Given the description of an element on the screen output the (x, y) to click on. 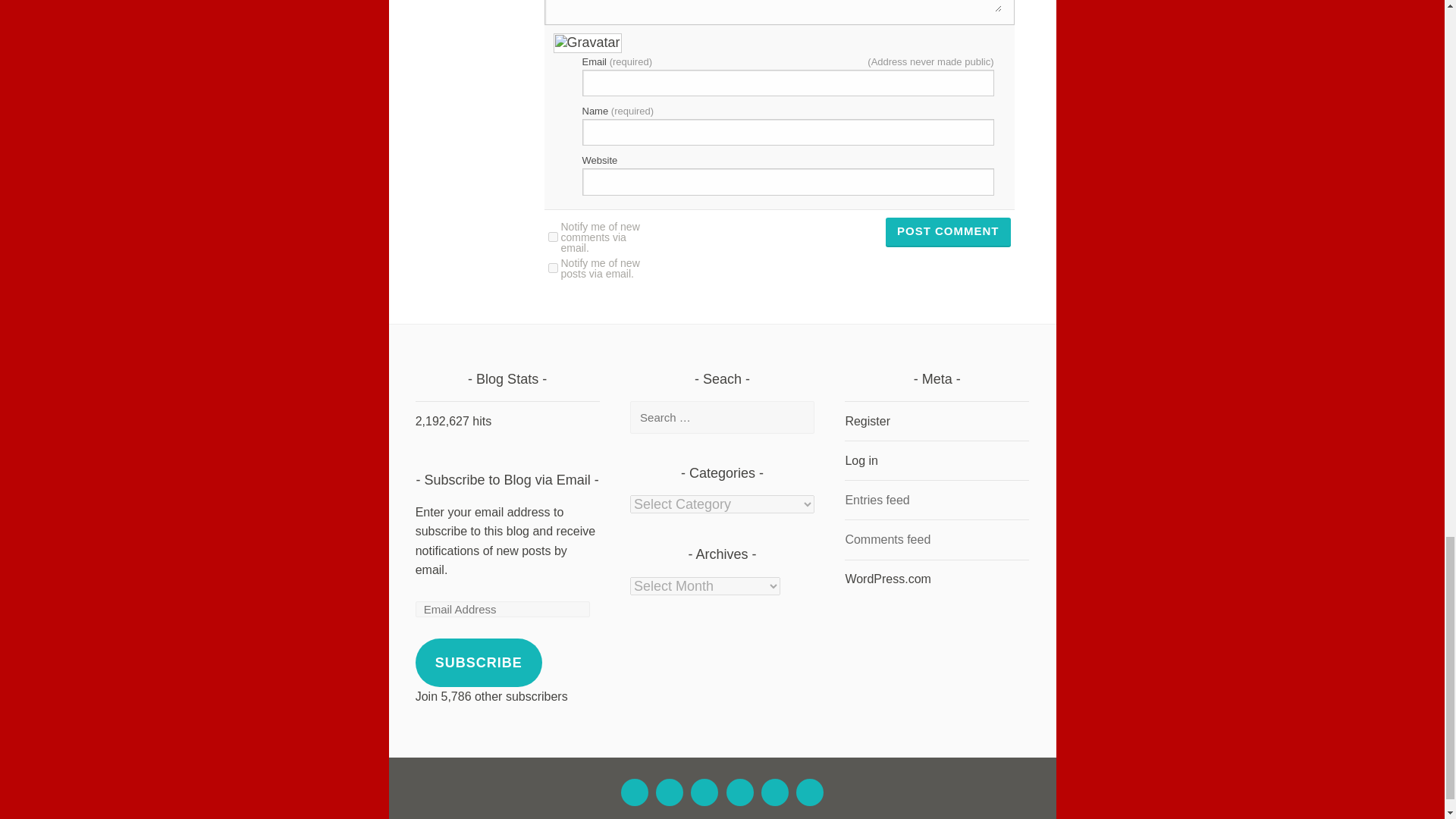
Post Comment (947, 232)
Enter your comment here... (778, 6)
subscribe (552, 236)
subscribe (552, 267)
